Given the description of an element on the screen output the (x, y) to click on. 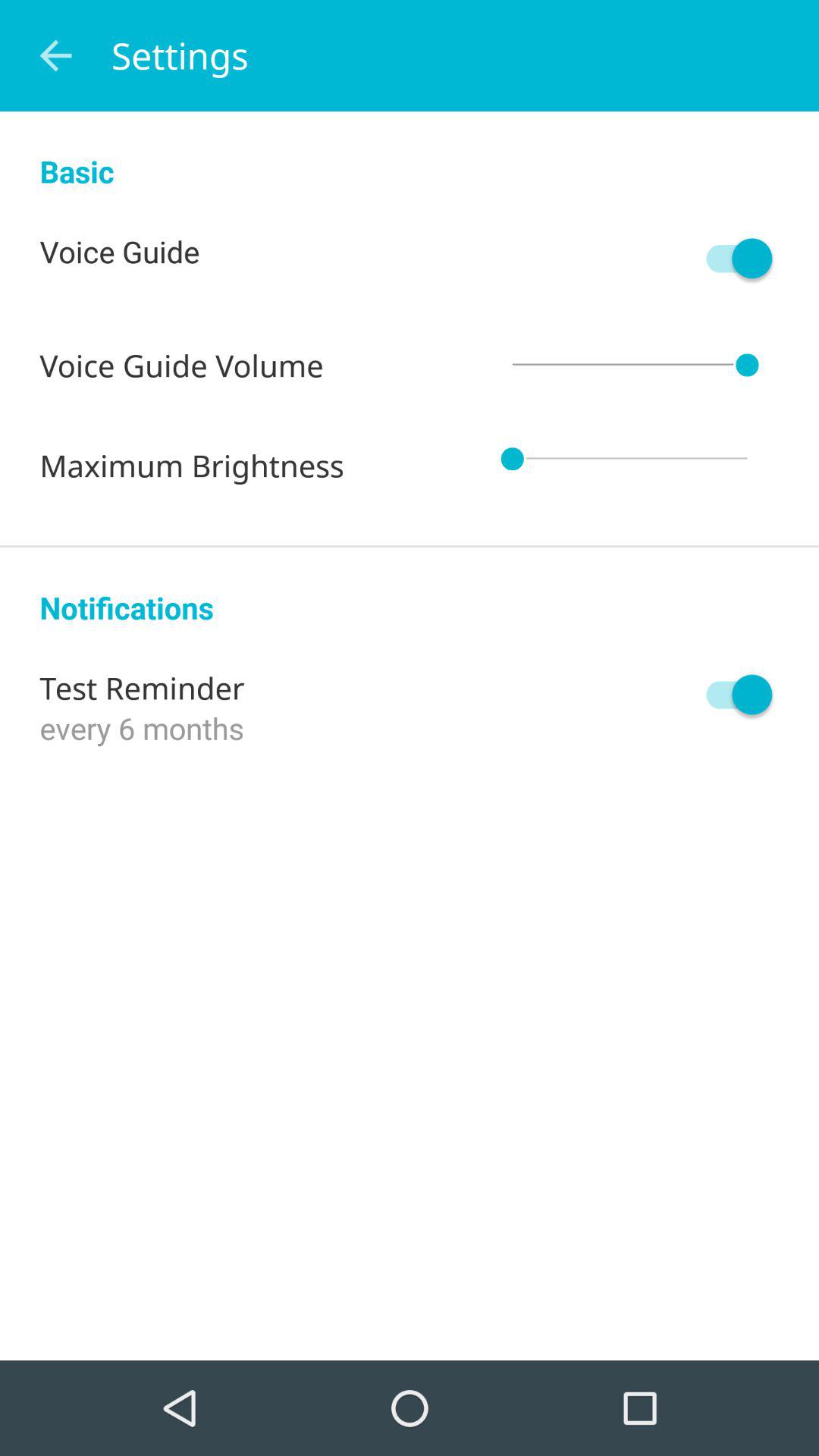
press the icon next to the test reminder item (731, 694)
